Given the description of an element on the screen output the (x, y) to click on. 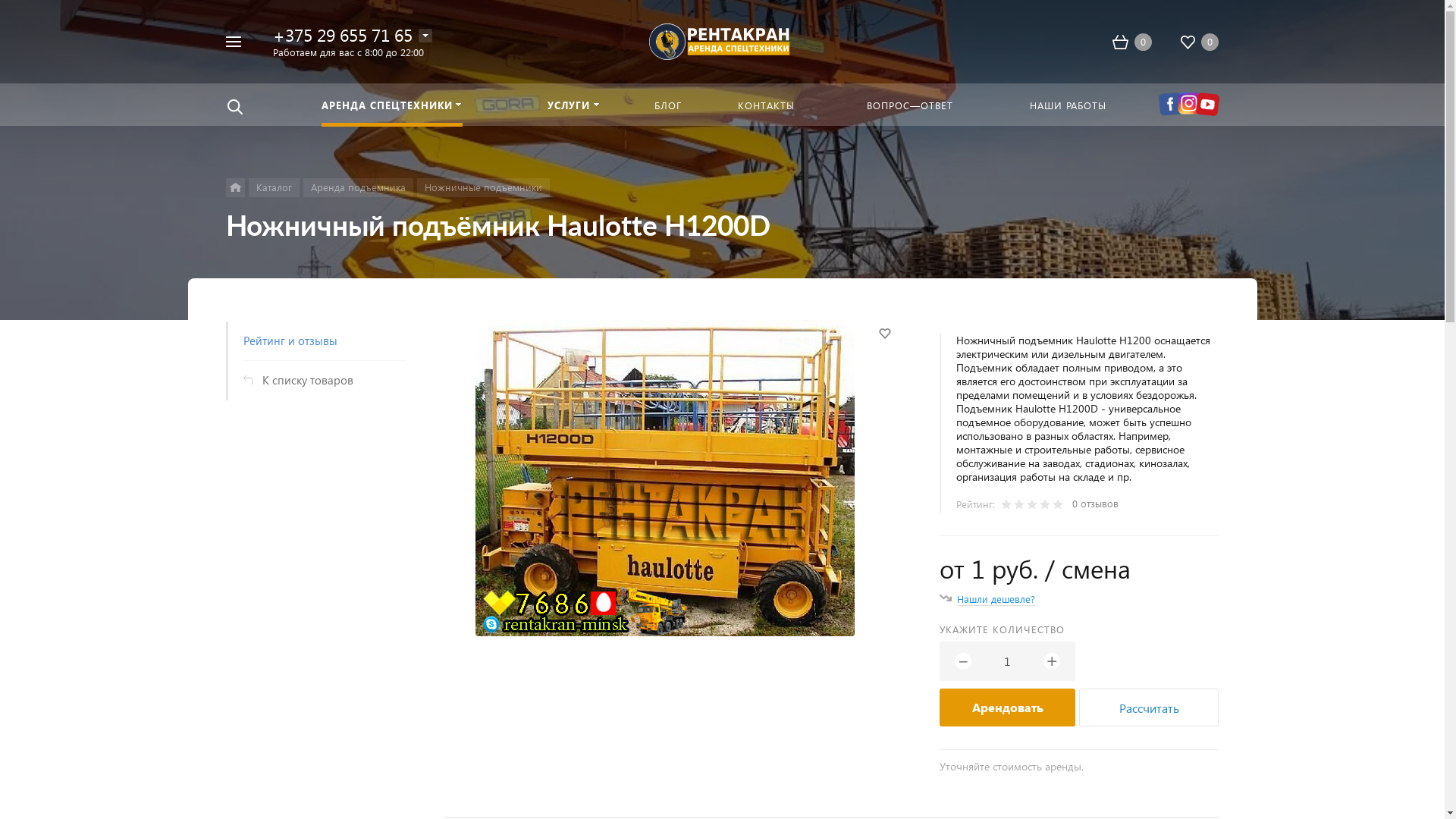
+375 29 655 71 65 Element type: text (342, 34)
